Given the description of an element on the screen output the (x, y) to click on. 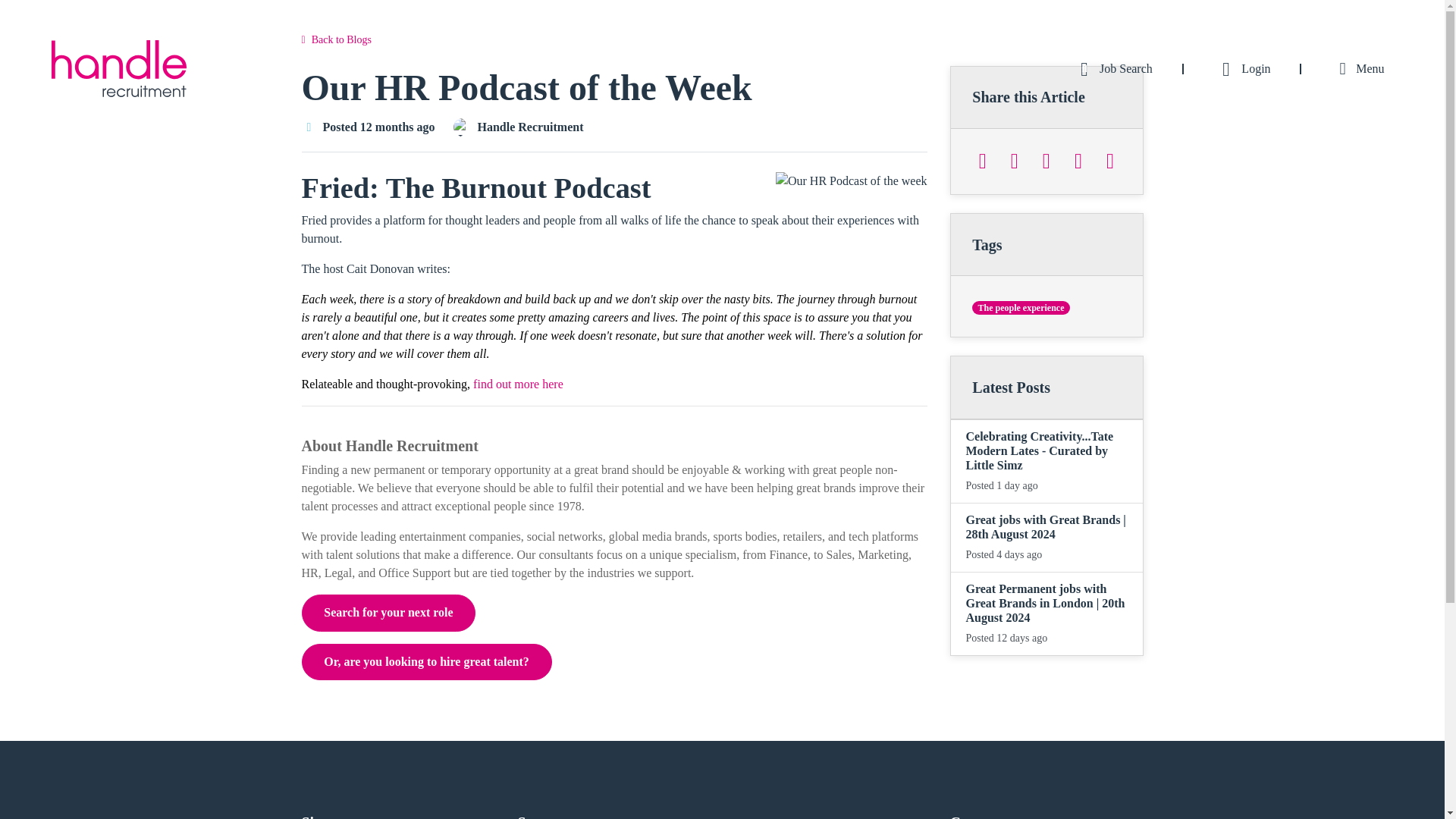
Menu (1358, 67)
Or, are you looking to hire great talent? (426, 661)
Author (461, 126)
LinkedIn (1045, 160)
Job Search (1111, 68)
Publish Date (309, 127)
Legal (338, 572)
Login (1242, 68)
Email (1110, 160)
Back to Blogs (336, 39)
